Given the description of an element on the screen output the (x, y) to click on. 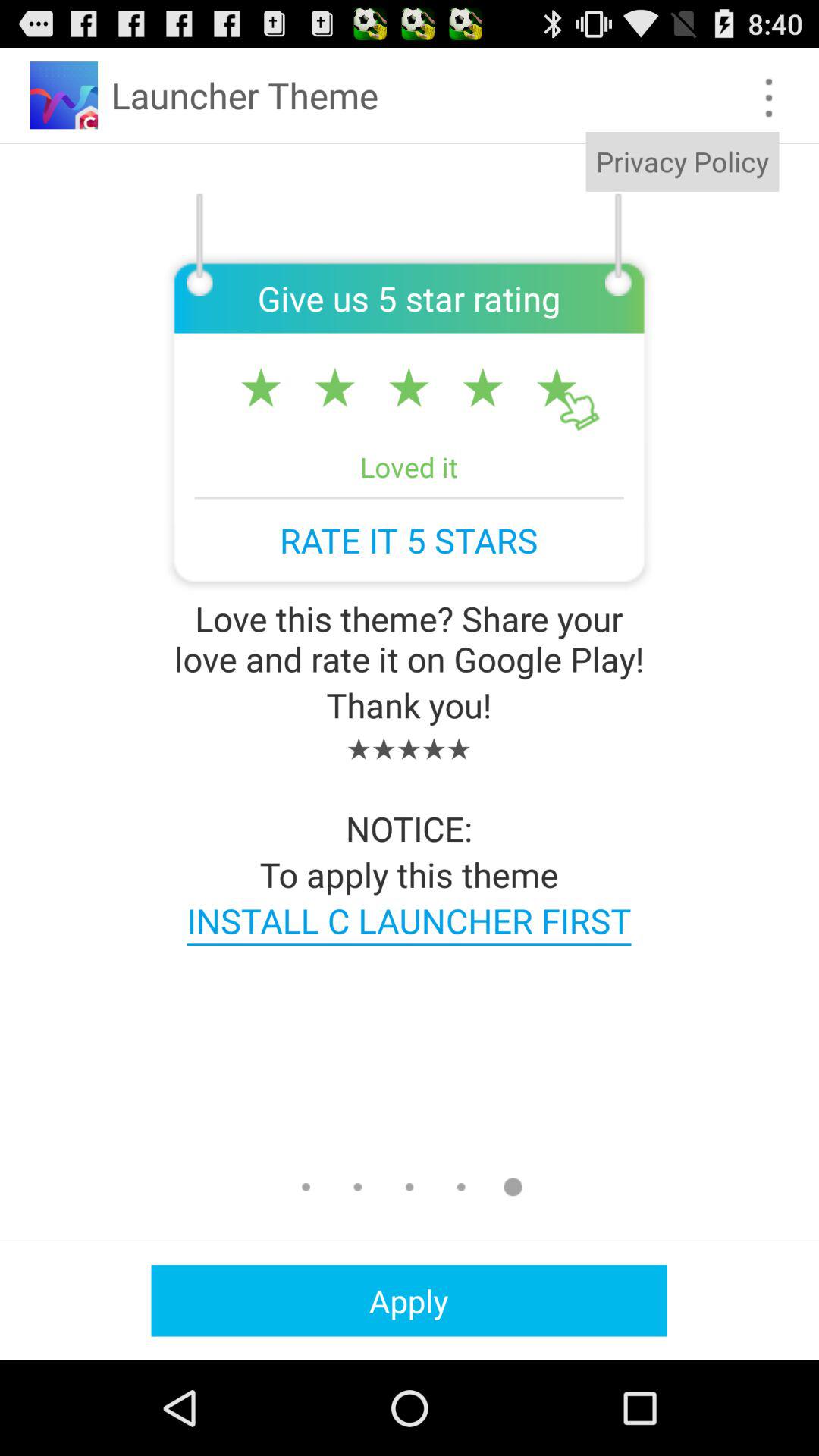
choose app to the right of launcher theme app (768, 97)
